Given the description of an element on the screen output the (x, y) to click on. 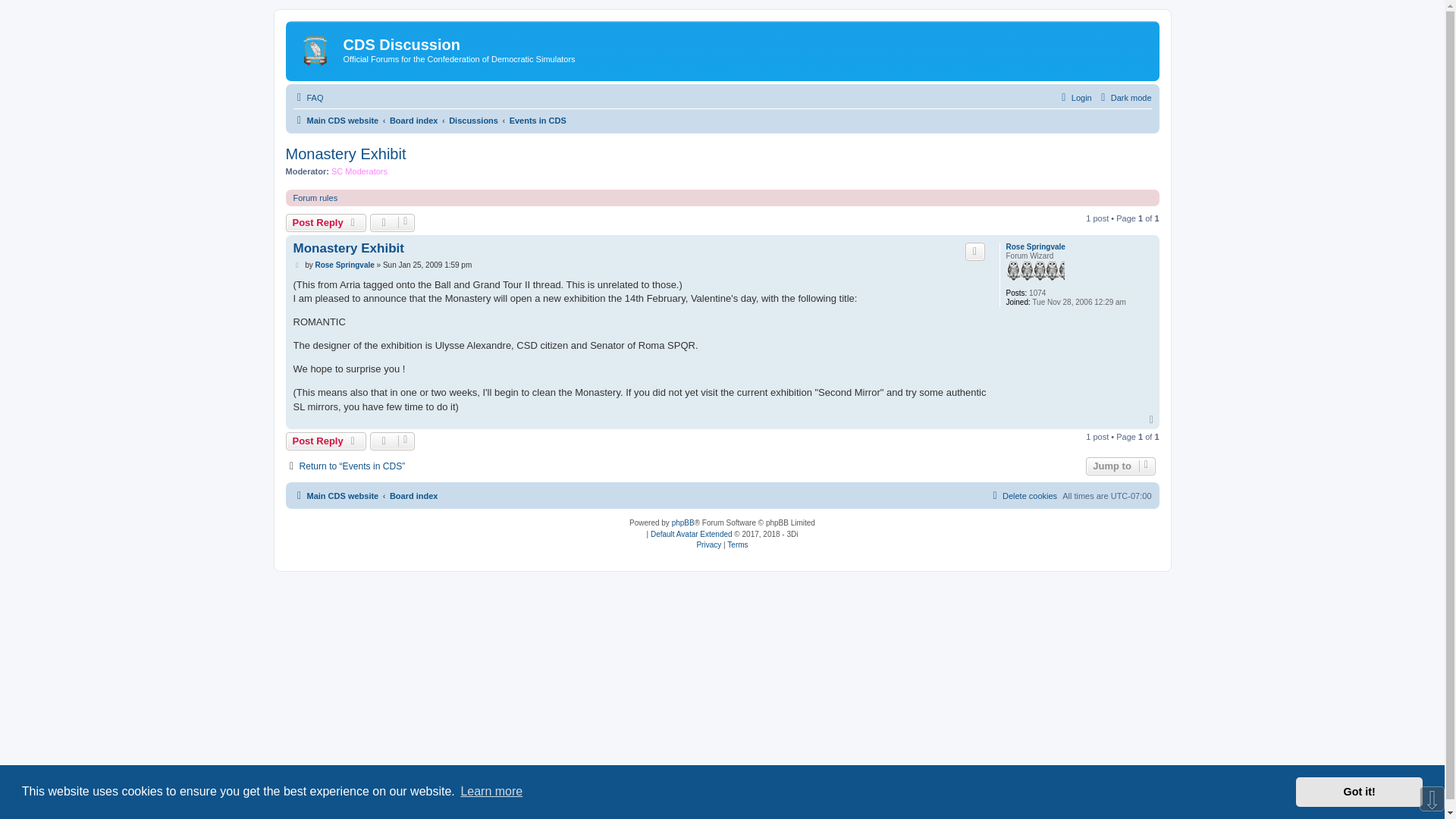
Top (1151, 419)
Post a reply (325, 222)
Topic tools (391, 222)
Events in CDS (537, 120)
Frequently Asked Questions (307, 97)
Dark mode (1124, 97)
SC Moderators (359, 171)
Monastery Exhibit (345, 153)
Post Reply (325, 222)
Main CDS website (335, 120)
Main CDS website (316, 47)
Discussions (472, 120)
Board index (414, 120)
Post (297, 265)
FAQ (307, 97)
